Given the description of an element on the screen output the (x, y) to click on. 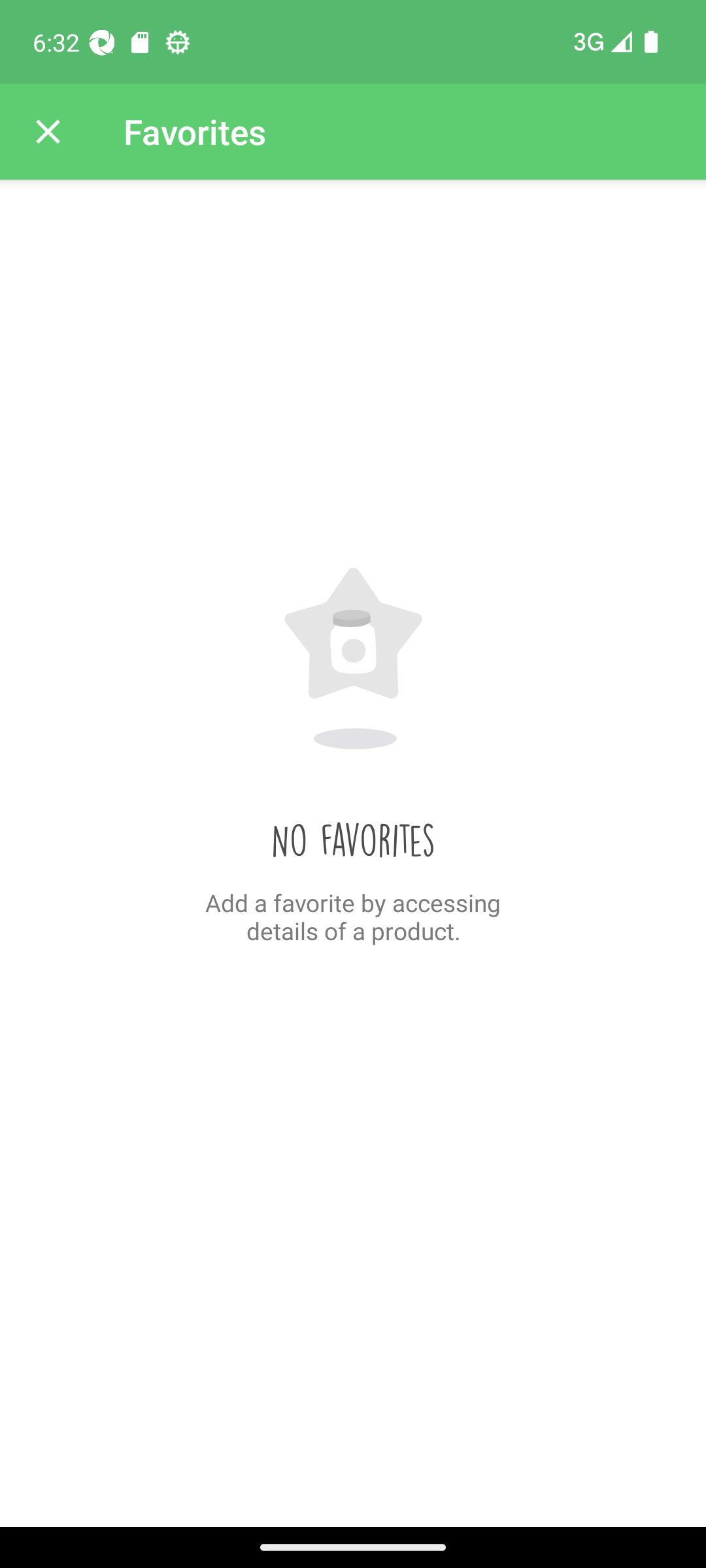
Navigate up (48, 131)
